Given the description of an element on the screen output the (x, y) to click on. 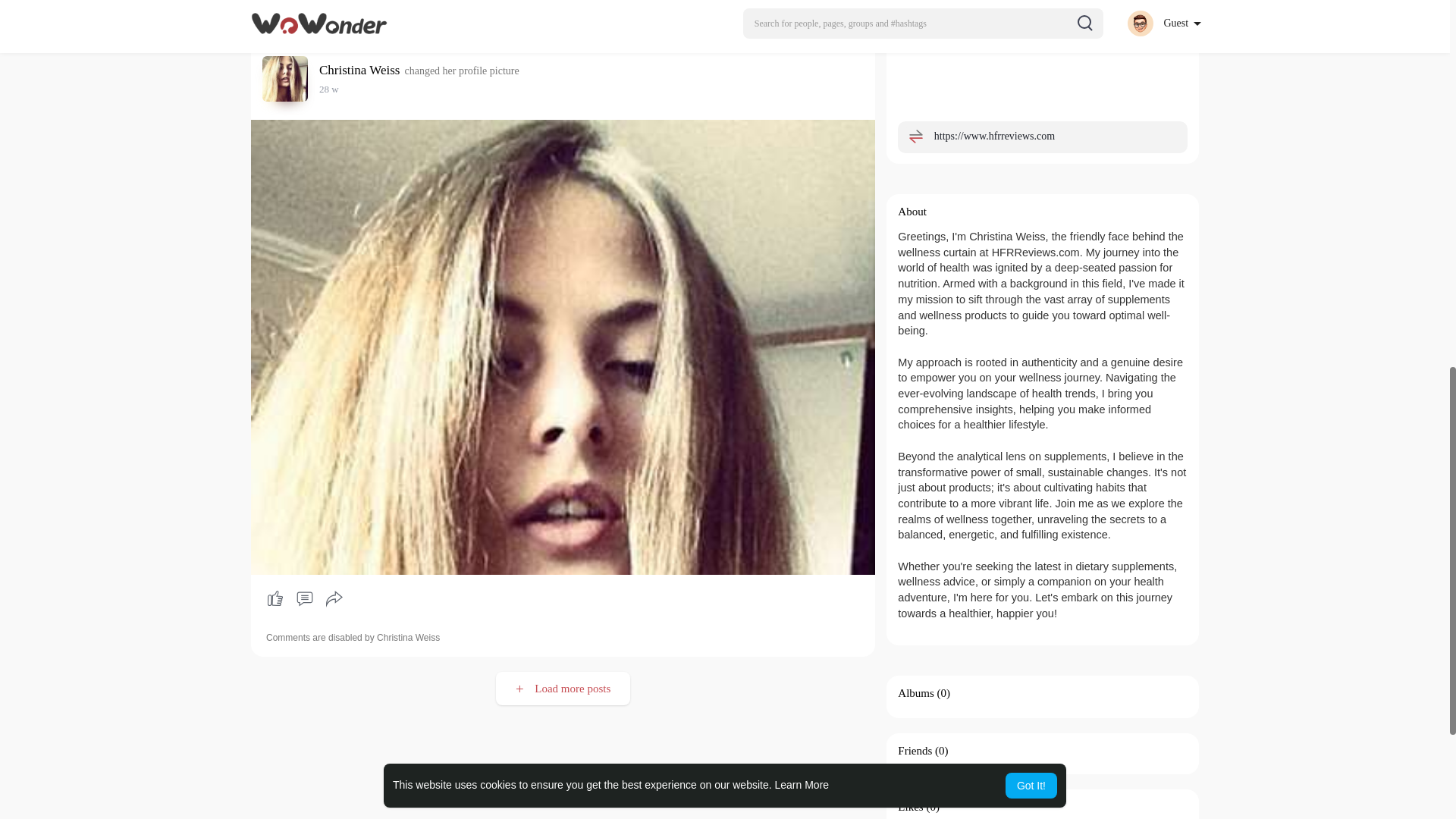
Christina Weiss (361, 69)
Albums (916, 693)
28 w (328, 89)
28 w (328, 89)
Likes (910, 806)
Friends (914, 750)
Share (334, 598)
Comments (304, 598)
